Given the description of an element on the screen output the (x, y) to click on. 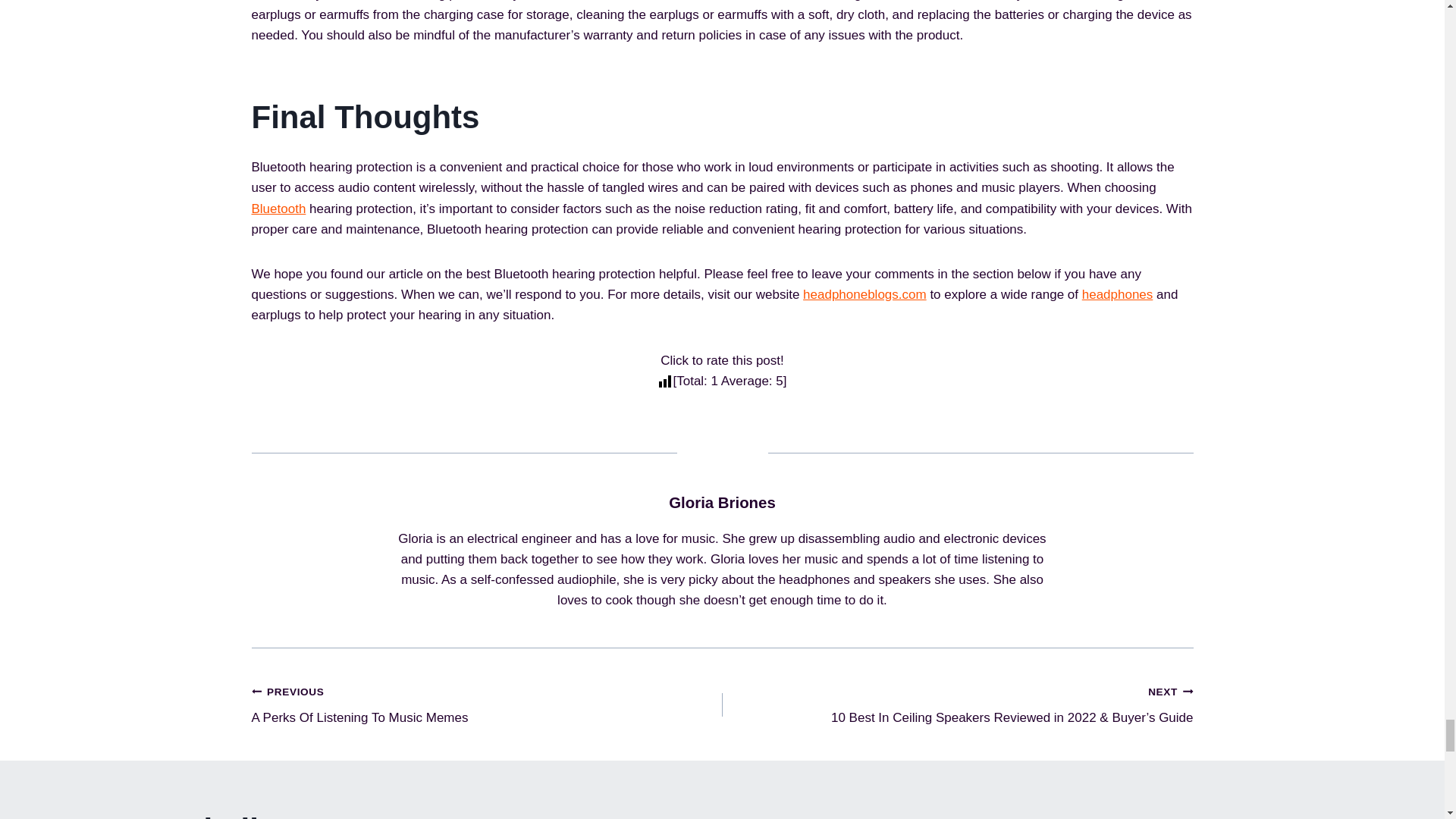
Posts by Gloria Briones (722, 502)
